Given the description of an element on the screen output the (x, y) to click on. 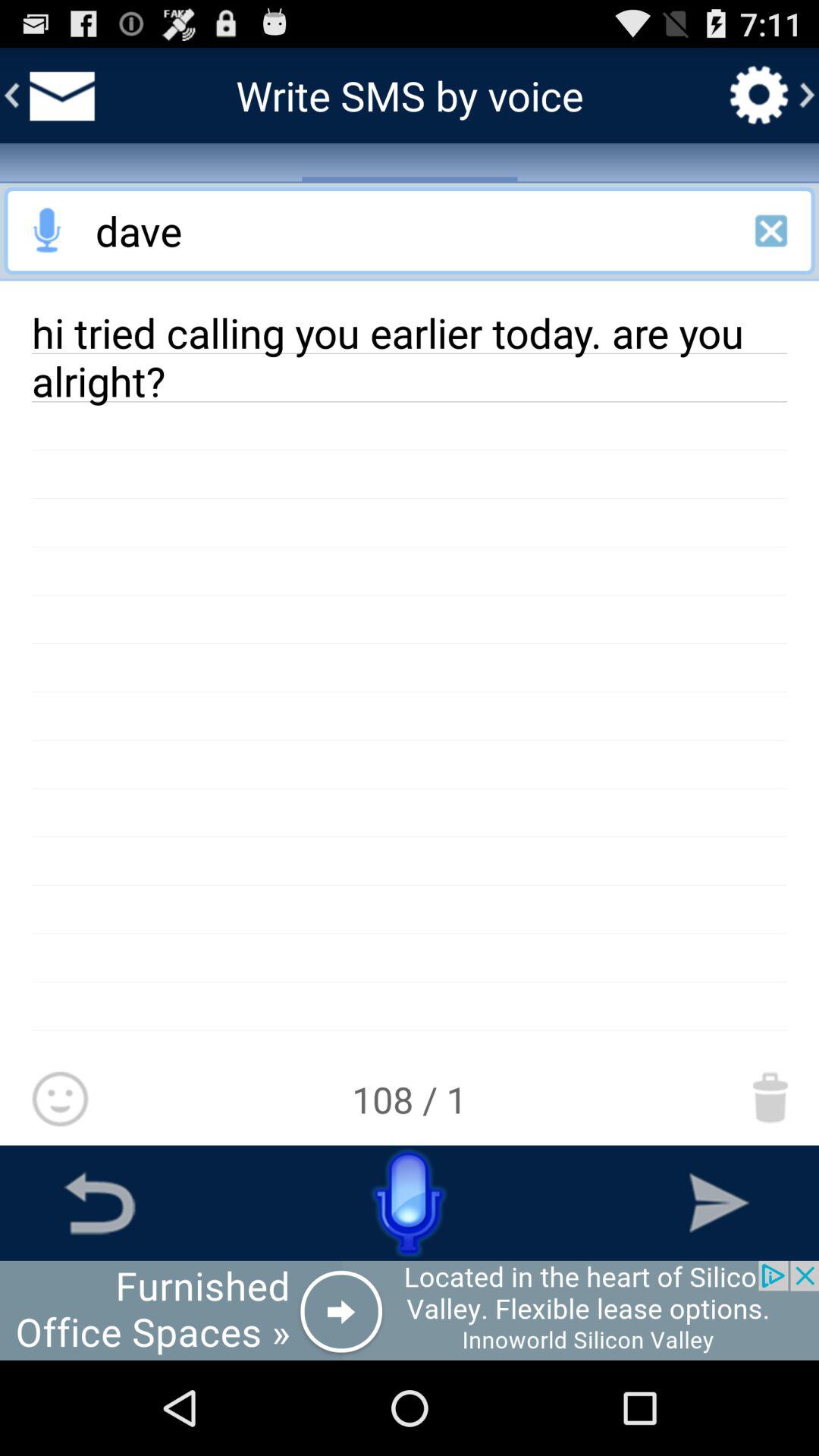
return to previous screen (99, 1202)
